Given the description of an element on the screen output the (x, y) to click on. 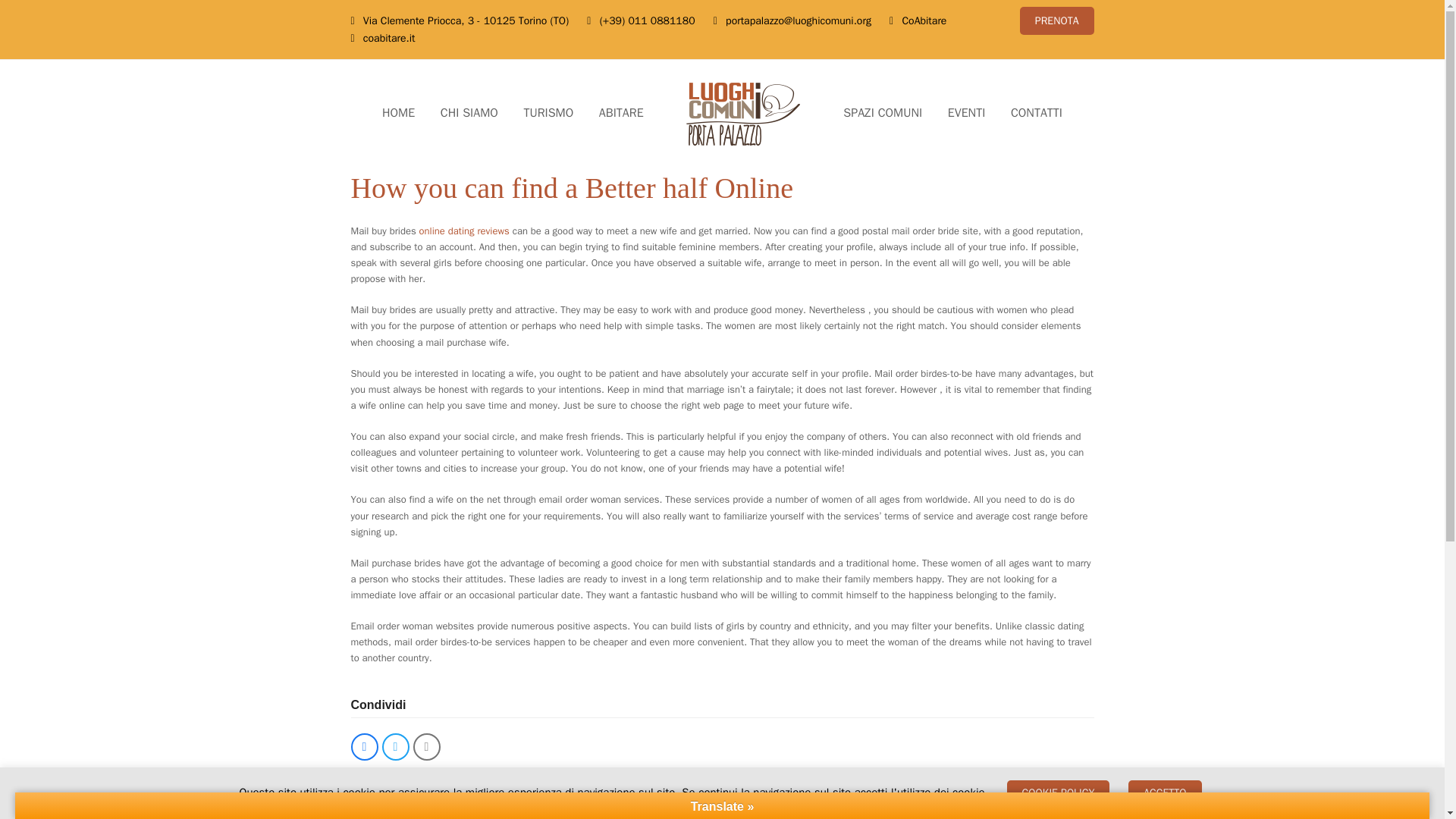
HOME (398, 113)
online dating reviews (464, 230)
TURISMO (548, 113)
SPAZI COMUNI (881, 113)
CoAbitare (924, 20)
Condividi su Facebook (363, 746)
Condividi su Twitter (395, 746)
CHI SIAMO (469, 113)
coabitare.it (389, 38)
CONTATTI (1036, 113)
PRENOTA (1056, 20)
EVENTI (965, 113)
ABITARE (621, 113)
